Given the description of an element on the screen output the (x, y) to click on. 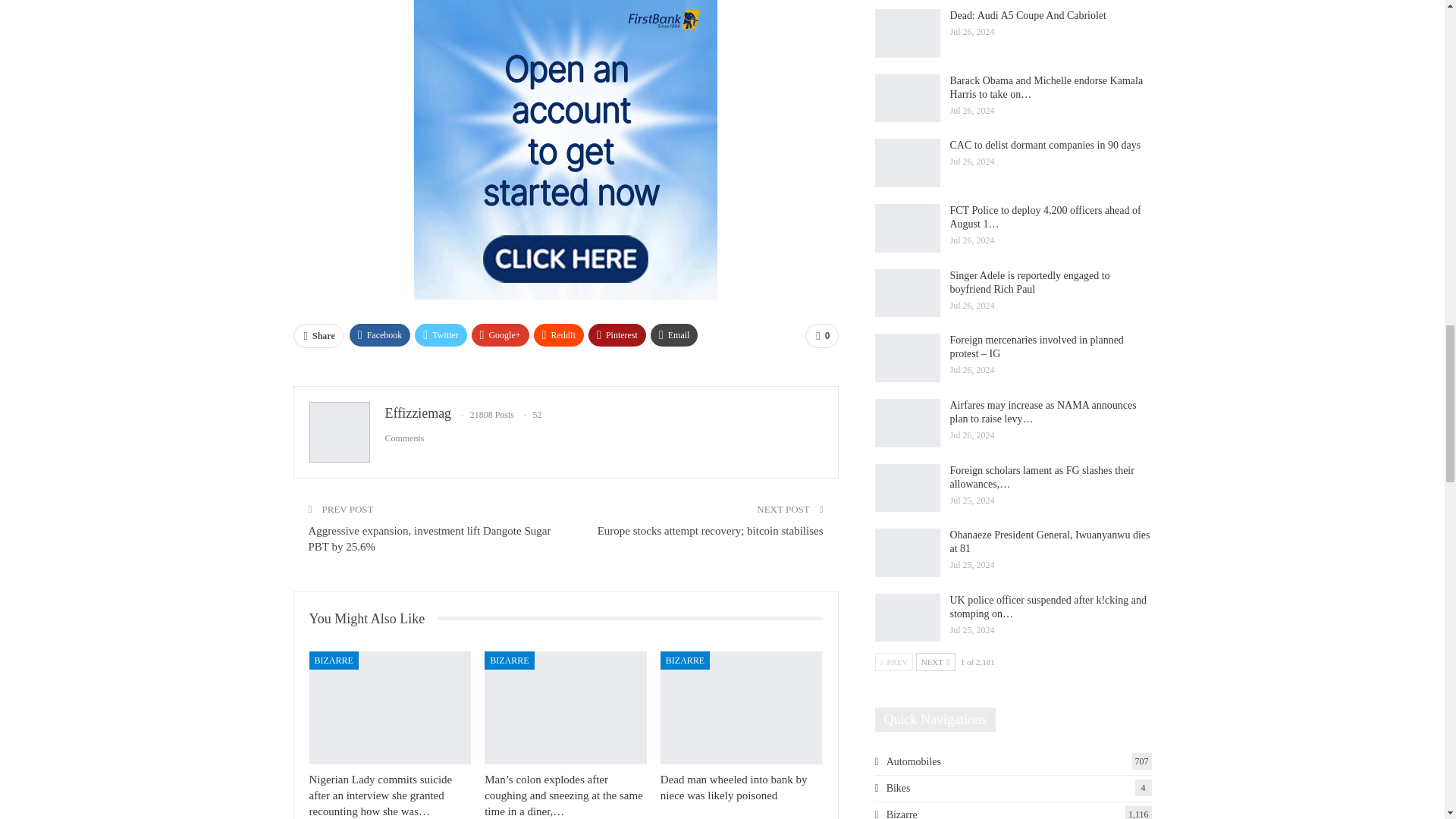
Dead man wheeled into bank by niece was likely poisoned (741, 707)
Dead man wheeled into bank by niece was likely poisoned (734, 787)
